Given the description of an element on the screen output the (x, y) to click on. 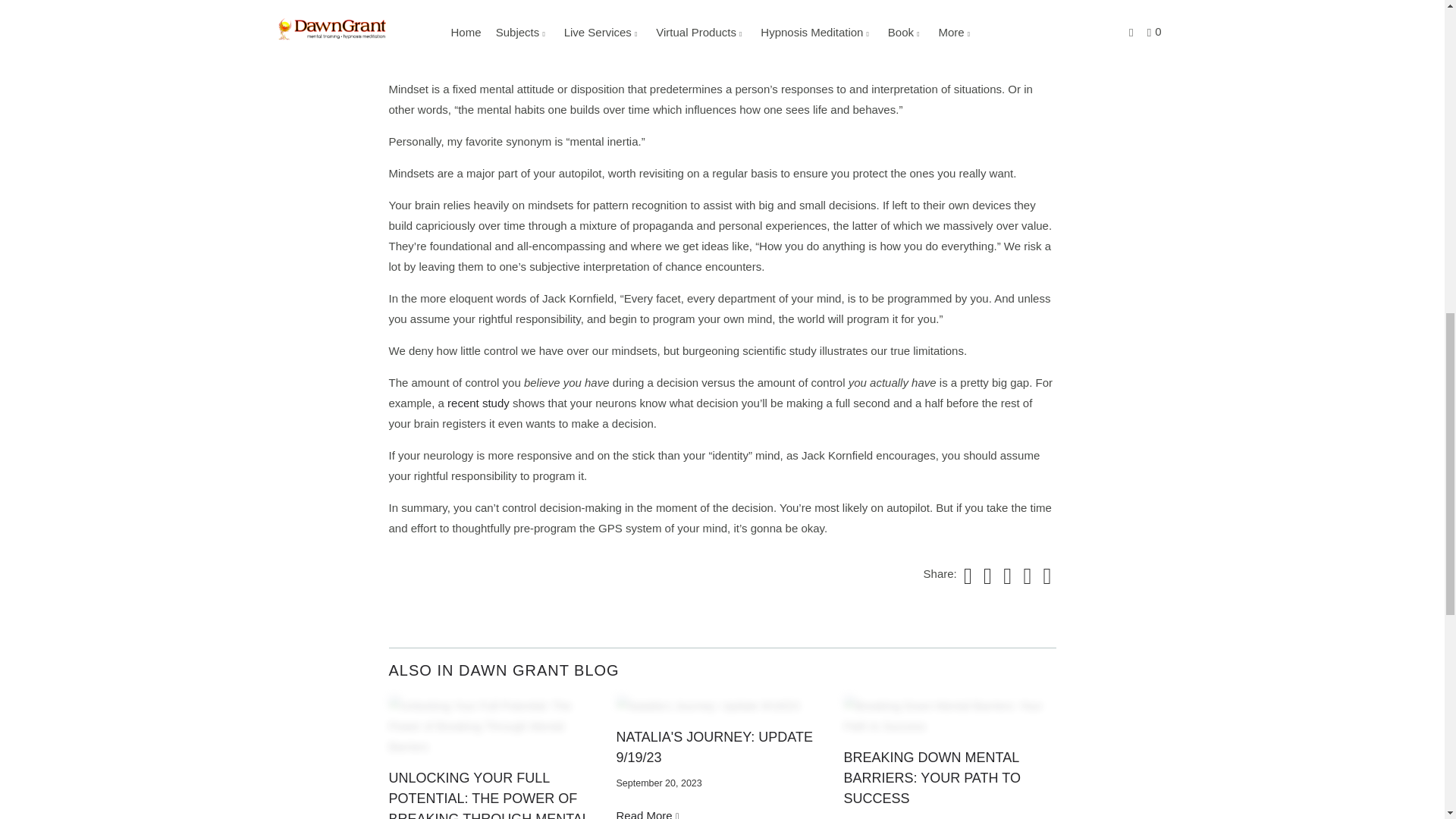
Share this on Facebook (985, 575)
Breaking Down Mental Barriers: Your Path to Success (949, 715)
Email this to a friend (1045, 575)
Share this on Pinterest (1004, 575)
Share this on Twitter (965, 575)
Breaking Down Mental Barriers: Your Path to Success (931, 777)
